Given the description of an element on the screen output the (x, y) to click on. 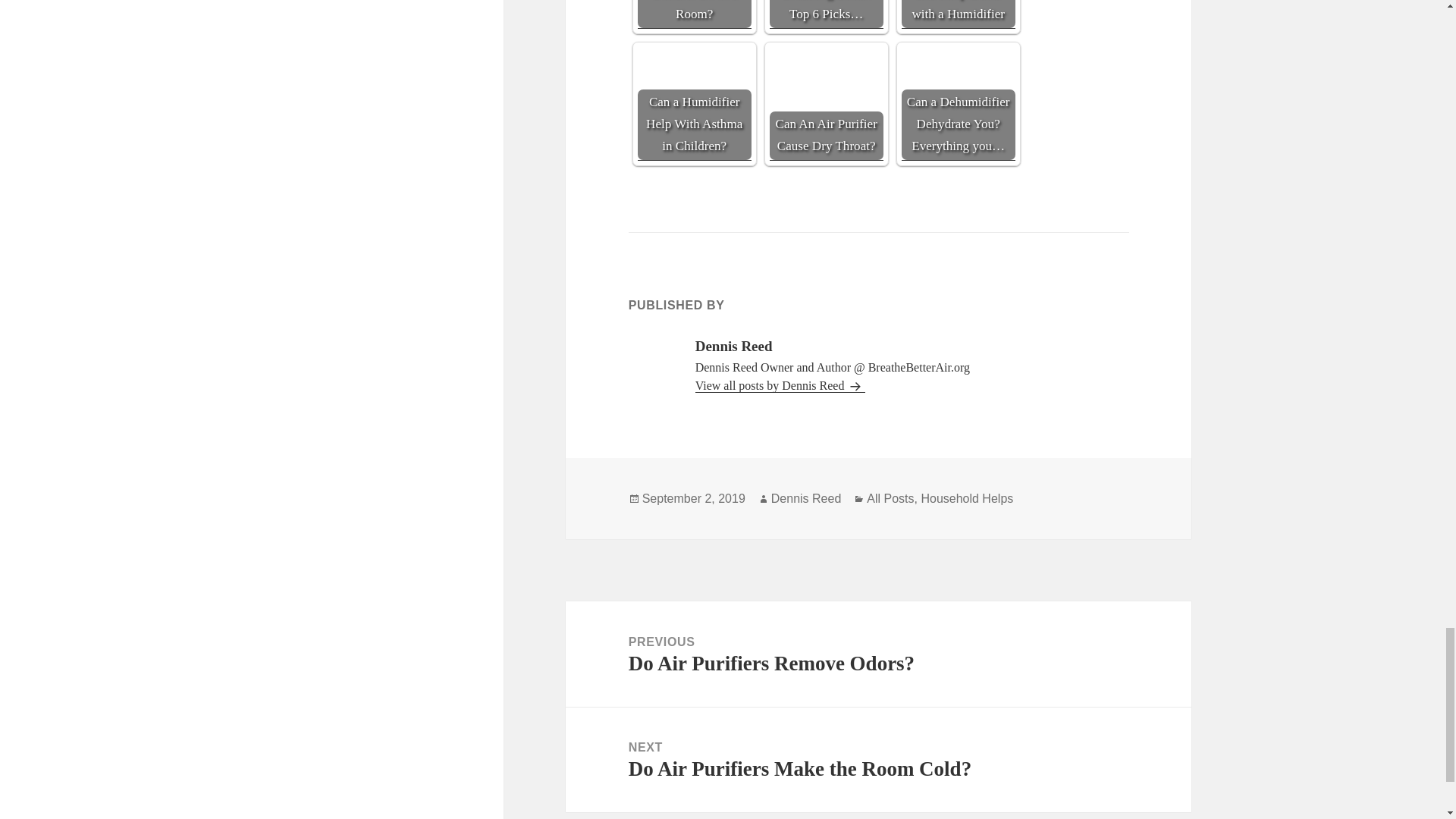
Household Helps (966, 498)
What Does a Diffuser Do in a Room? (878, 653)
View all posts by Dennis Reed (694, 14)
Can a Humidifier Help With Asthma in Children? (780, 386)
Dennis Reed (878, 760)
All Posts (694, 103)
Protect Your Health and Sleep Better with a Humidifier (806, 498)
Can An Air Purifier Cause Dry Throat? (890, 498)
September 2, 2019 (957, 14)
